Given the description of an element on the screen output the (x, y) to click on. 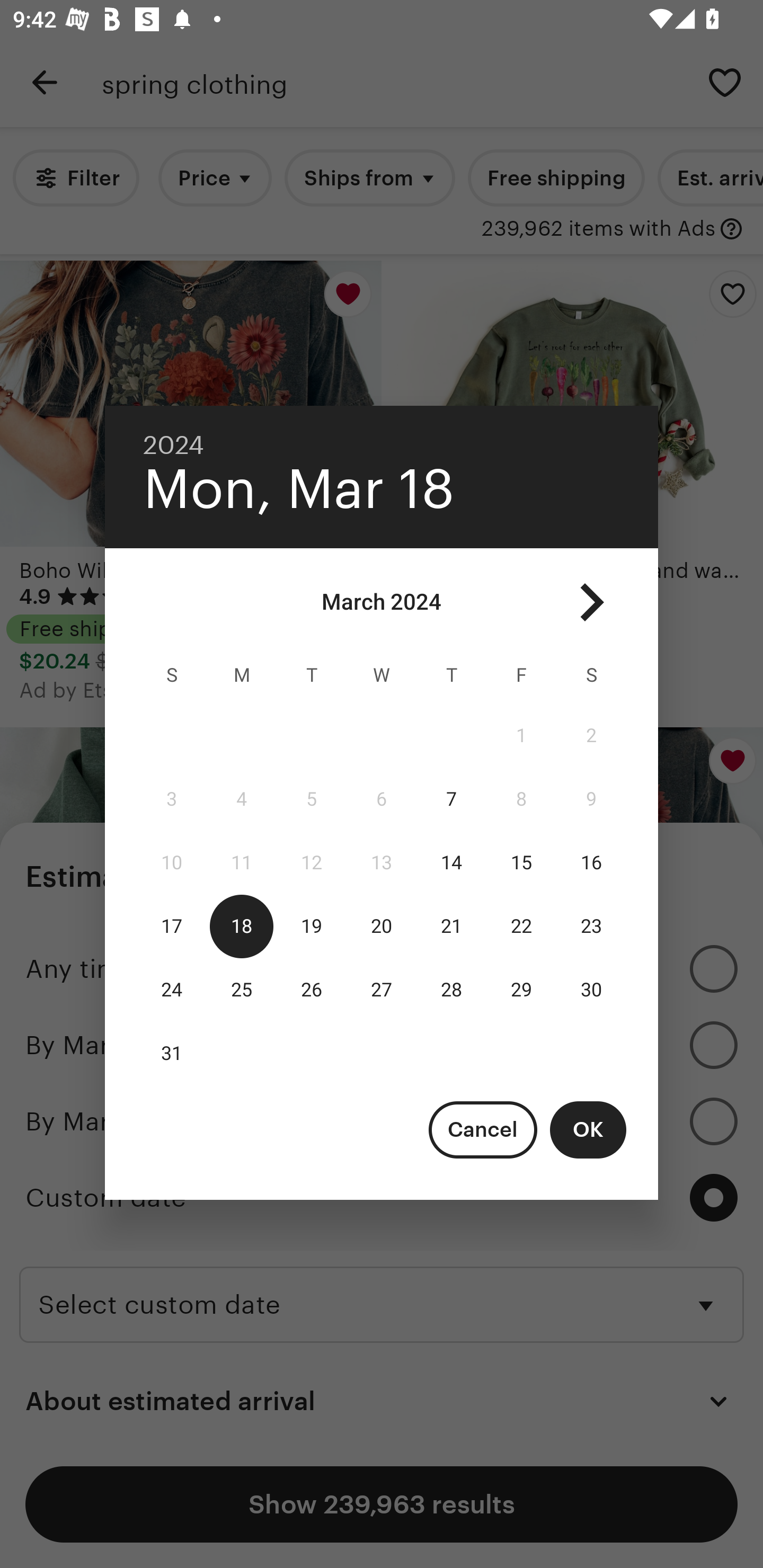
2024 (173, 444)
Mon, Mar 18 (298, 489)
Next month (591, 601)
1 01 March 2024 (521, 736)
2 02 March 2024 (591, 736)
3 03 March 2024 (171, 799)
4 04 March 2024 (241, 799)
5 05 March 2024 (311, 799)
6 06 March 2024 (381, 799)
7 07 March 2024 (451, 799)
8 08 March 2024 (521, 799)
9 09 March 2024 (591, 799)
10 10 March 2024 (171, 863)
11 11 March 2024 (241, 863)
12 12 March 2024 (311, 863)
13 13 March 2024 (381, 863)
14 14 March 2024 (451, 863)
15 15 March 2024 (521, 863)
16 16 March 2024 (591, 863)
17 17 March 2024 (171, 926)
18 18 March 2024 (241, 926)
19 19 March 2024 (311, 926)
20 20 March 2024 (381, 926)
21 21 March 2024 (451, 926)
22 22 March 2024 (521, 926)
23 23 March 2024 (591, 926)
24 24 March 2024 (171, 990)
25 25 March 2024 (241, 990)
26 26 March 2024 (311, 990)
27 27 March 2024 (381, 990)
28 28 March 2024 (451, 990)
29 29 March 2024 (521, 990)
30 30 March 2024 (591, 990)
31 31 March 2024 (171, 1053)
Cancel (482, 1129)
OK (588, 1129)
